Given the description of an element on the screen output the (x, y) to click on. 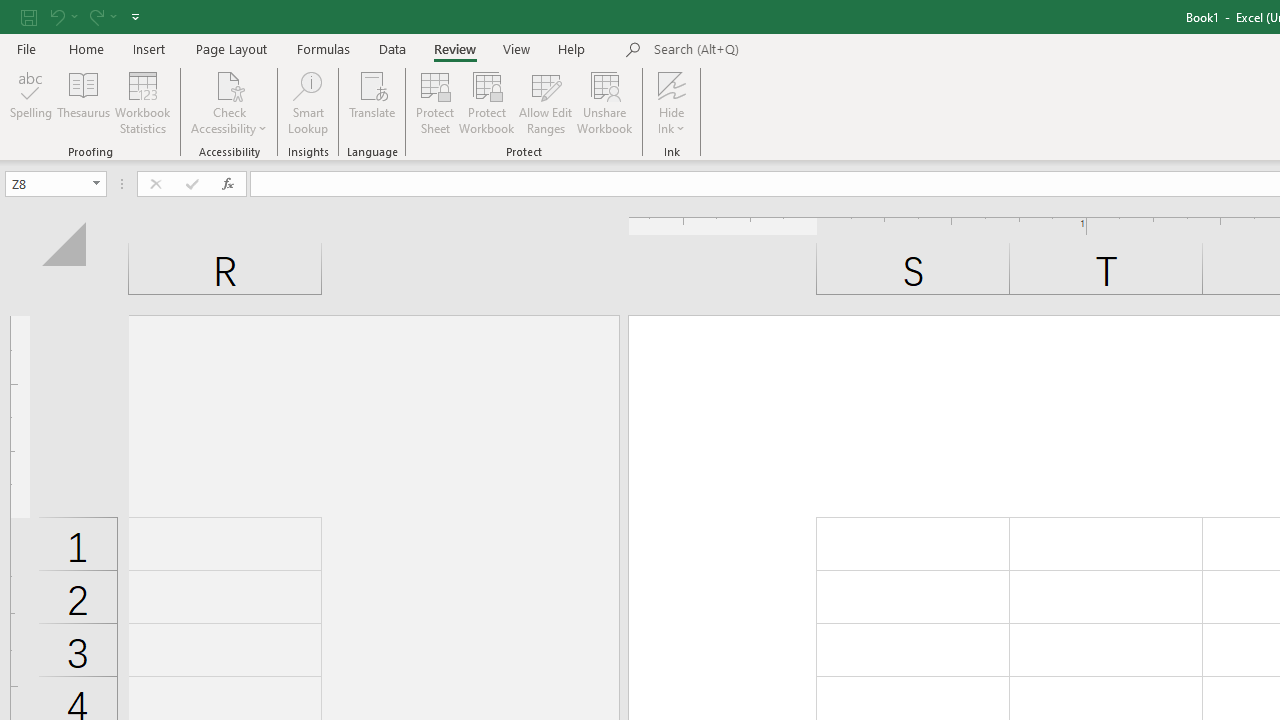
Protect Workbook... (486, 102)
Spelling... (31, 102)
